Given the description of an element on the screen output the (x, y) to click on. 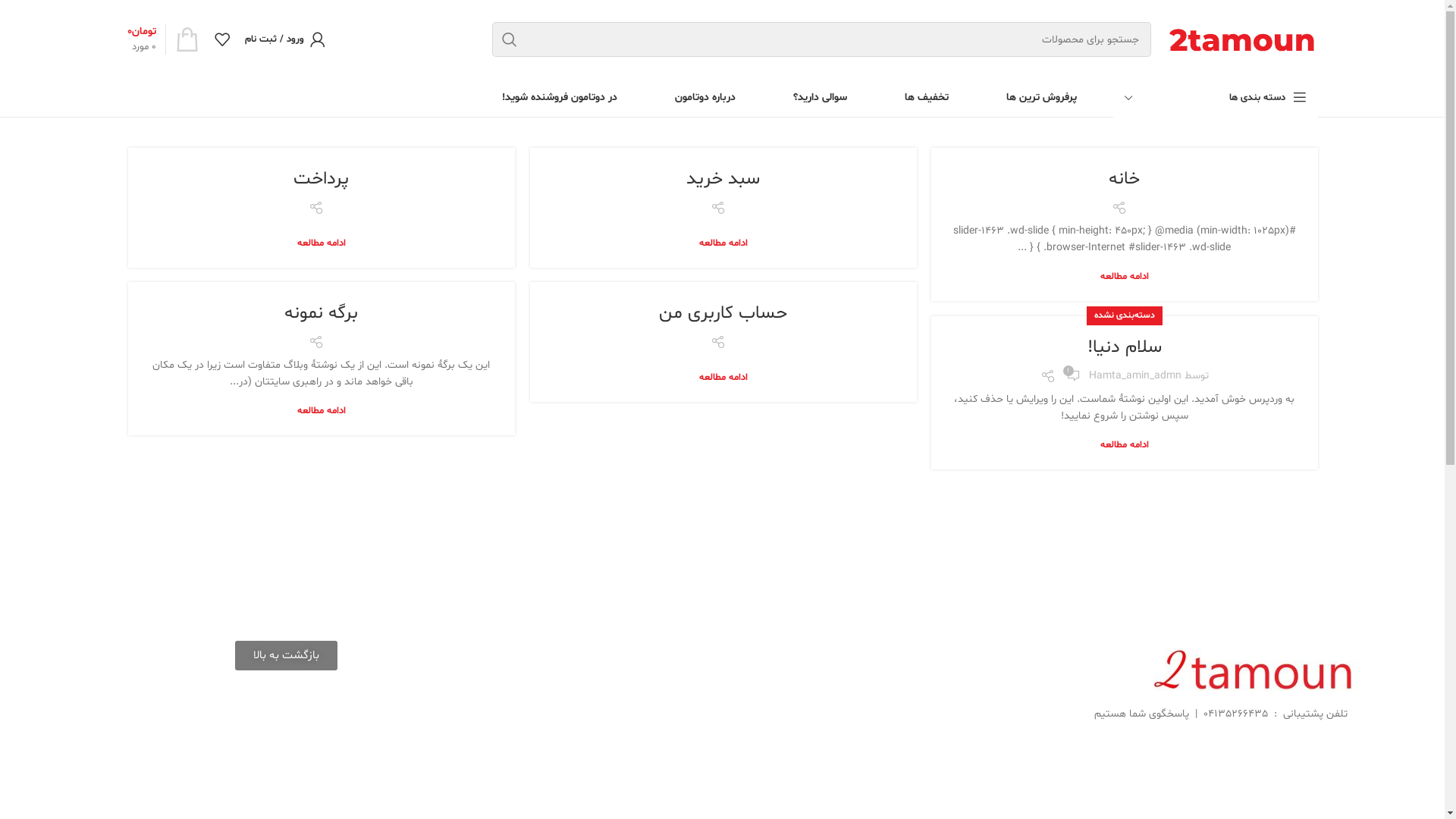
1 Element type: text (1073, 375)
Hamta_Amin_Admn Element type: text (1134, 375)
